Given the description of an element on the screen output the (x, y) to click on. 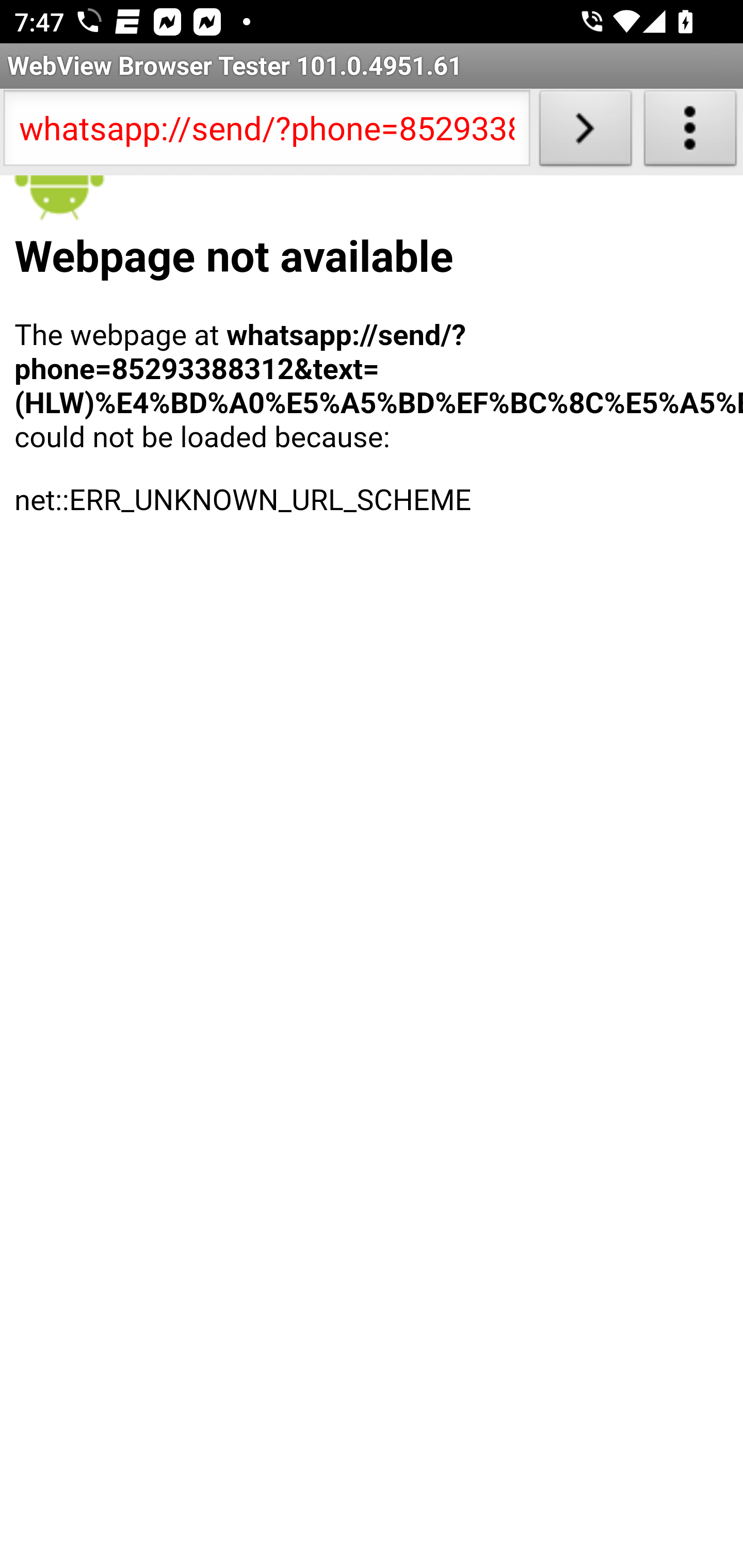
Load URL (585, 132)
About WebView (690, 132)
